Given the description of an element on the screen output the (x, y) to click on. 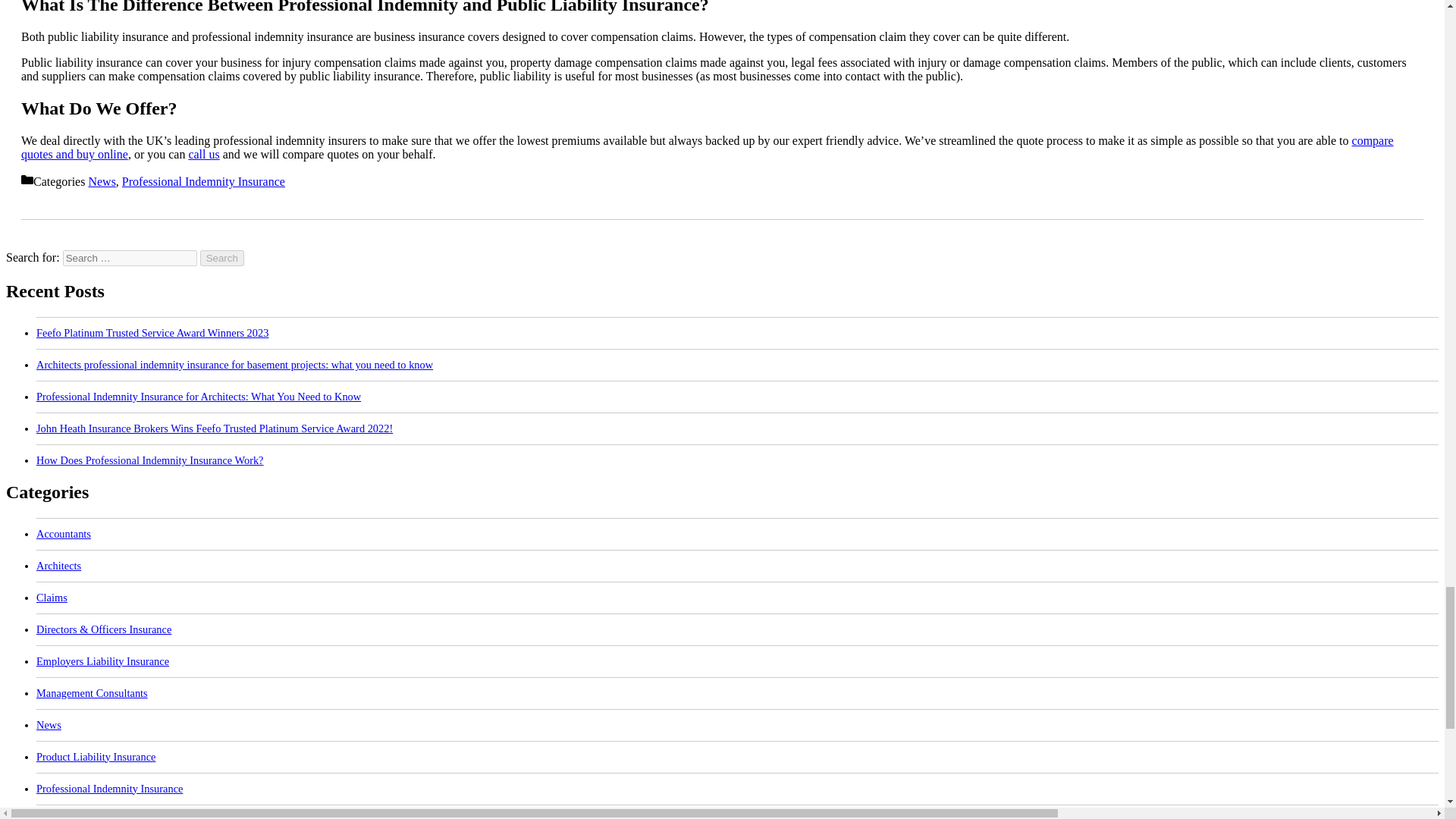
Search for: (129, 258)
Search (222, 258)
Search (222, 258)
